Given the description of an element on the screen output the (x, y) to click on. 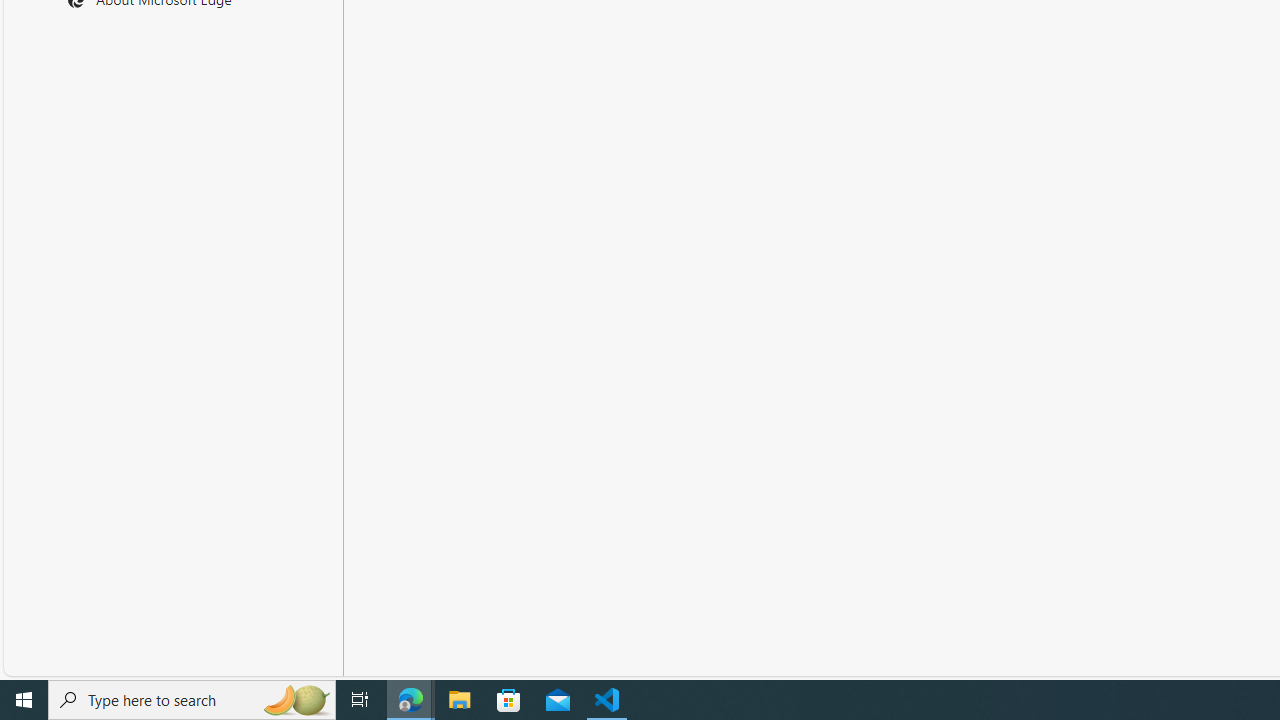
Microsoft Edge - 2 running windows (411, 699)
